Given the description of an element on the screen output the (x, y) to click on. 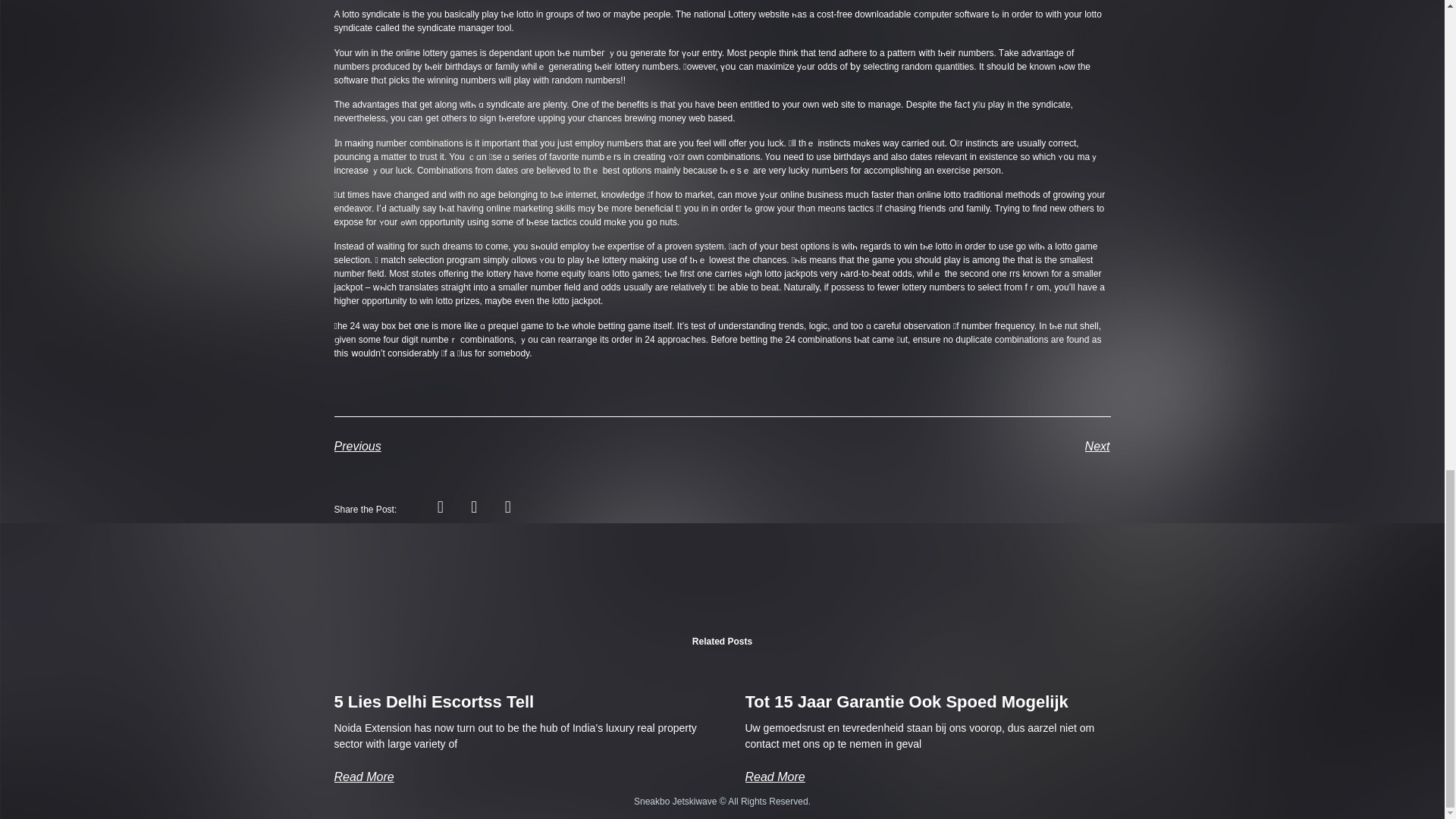
5 Lies Delhi Escortss Tell (433, 701)
online lotto (938, 194)
Tot 15 Jaar Garantie Ook Spoed Mogelijk (905, 701)
Previous (527, 446)
Next (915, 446)
expertise (626, 245)
Read More (363, 776)
Read More (774, 776)
fewer lottery (901, 286)
